Given the description of an element on the screen output the (x, y) to click on. 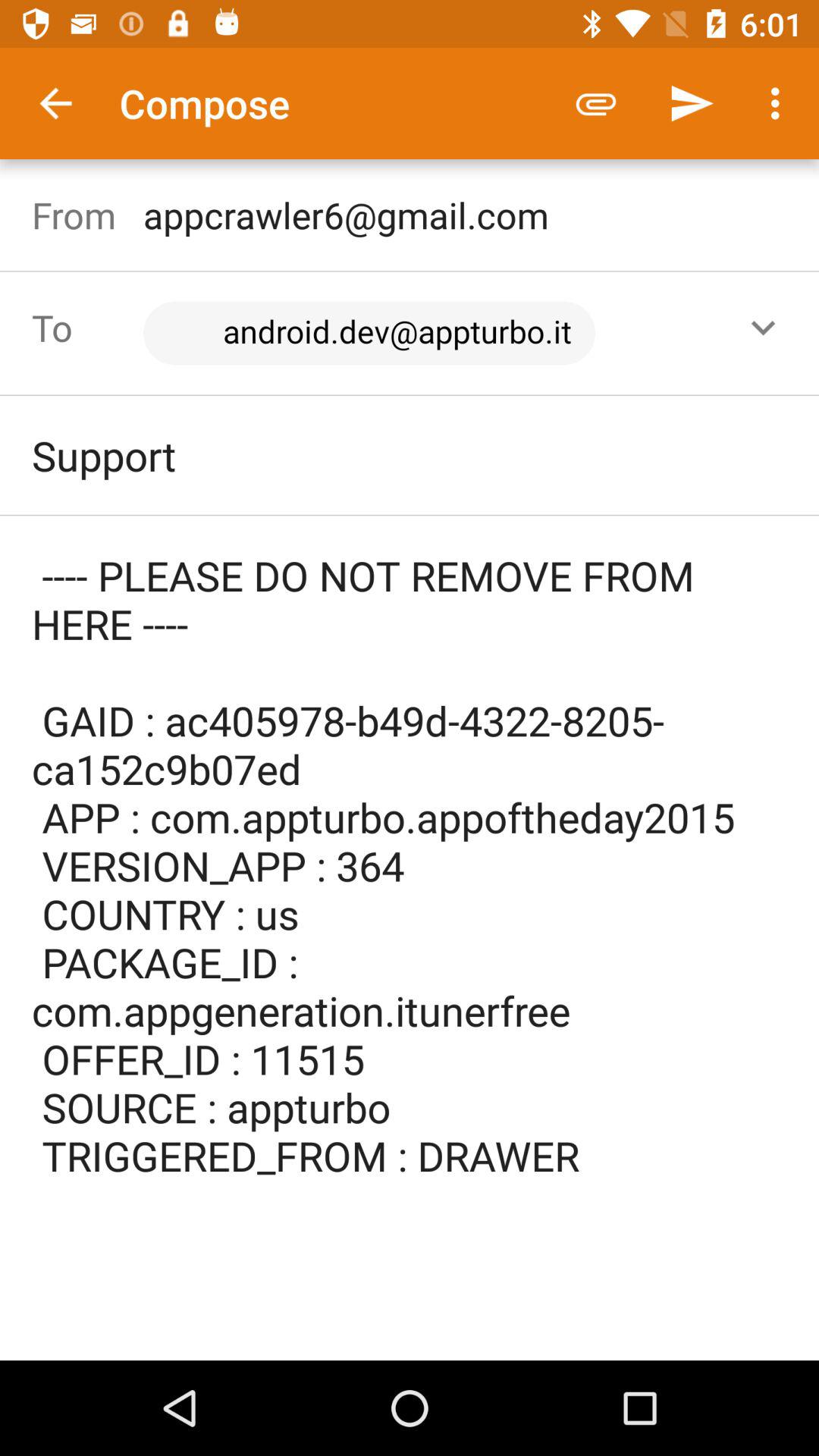
turn on item to the left of the compose icon (55, 103)
